Given the description of an element on the screen output the (x, y) to click on. 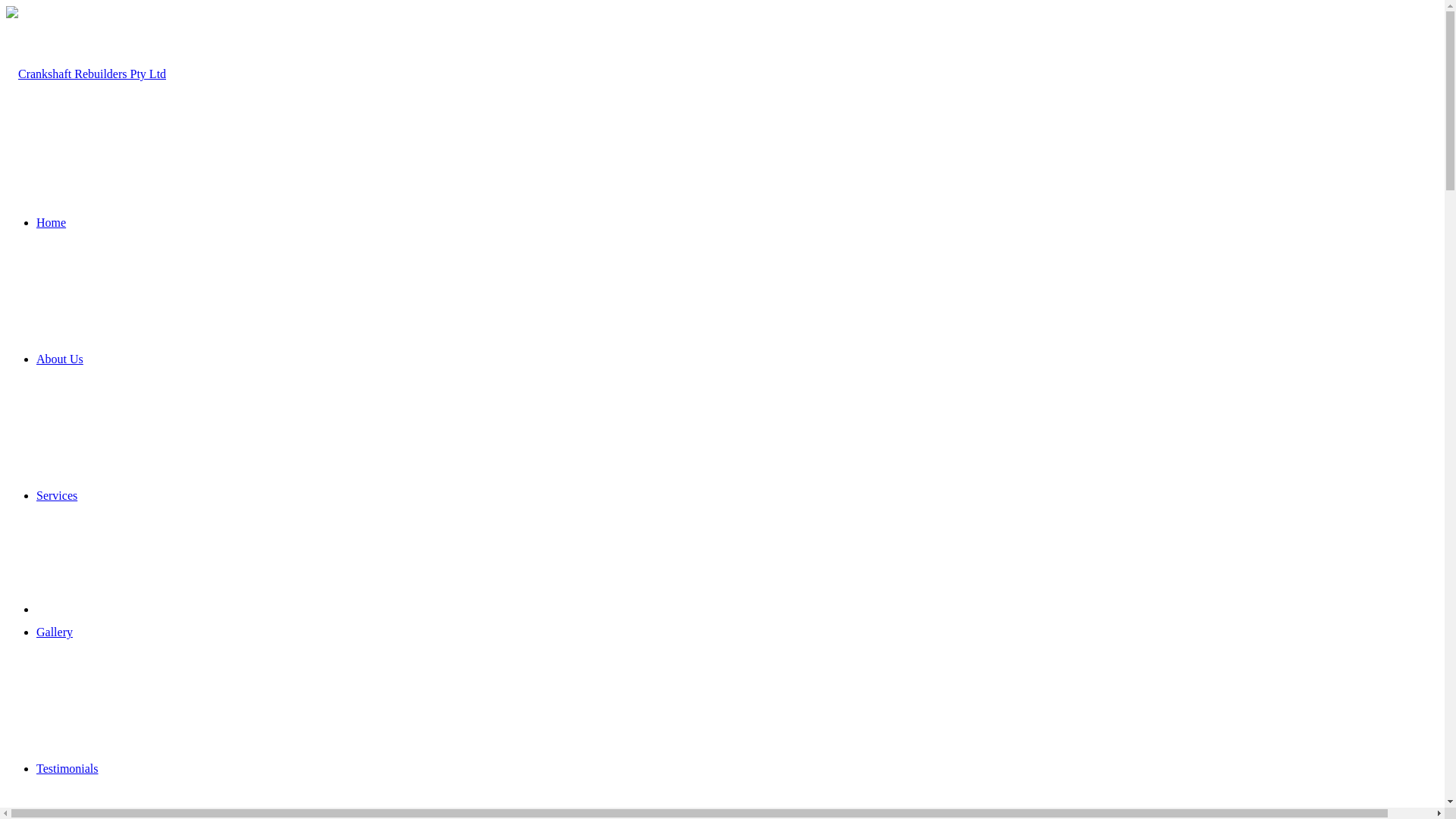
Services Element type: text (56, 495)
About Us Element type: text (59, 358)
Testimonials Element type: text (67, 768)
Gallery Element type: text (54, 631)
Home Element type: text (50, 222)
